Given the description of an element on the screen output the (x, y) to click on. 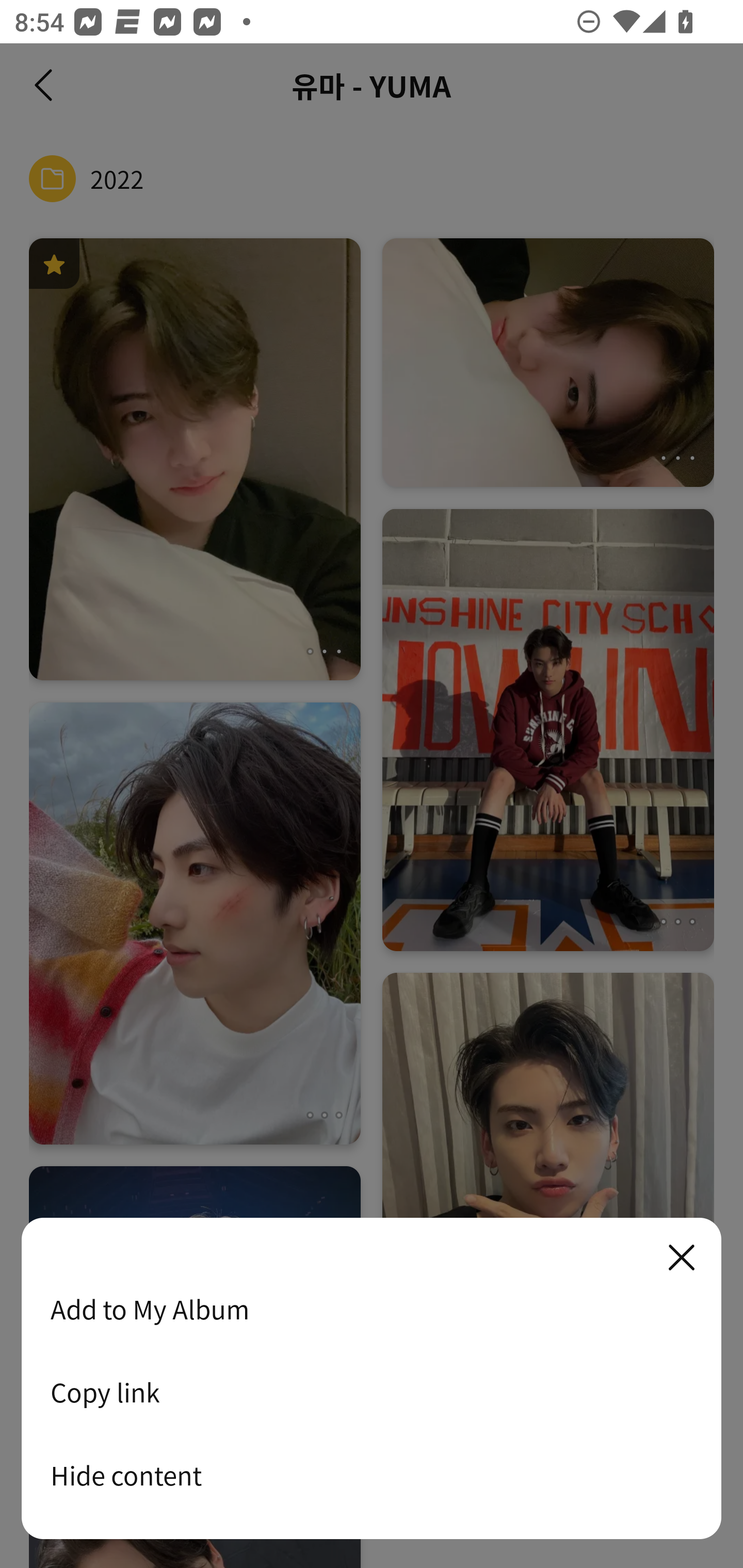
Add to My Album Copy link Hide content (371, 1378)
Add to My Album (371, 1308)
Copy link (371, 1391)
Hide content (371, 1474)
